Given the description of an element on the screen output the (x, y) to click on. 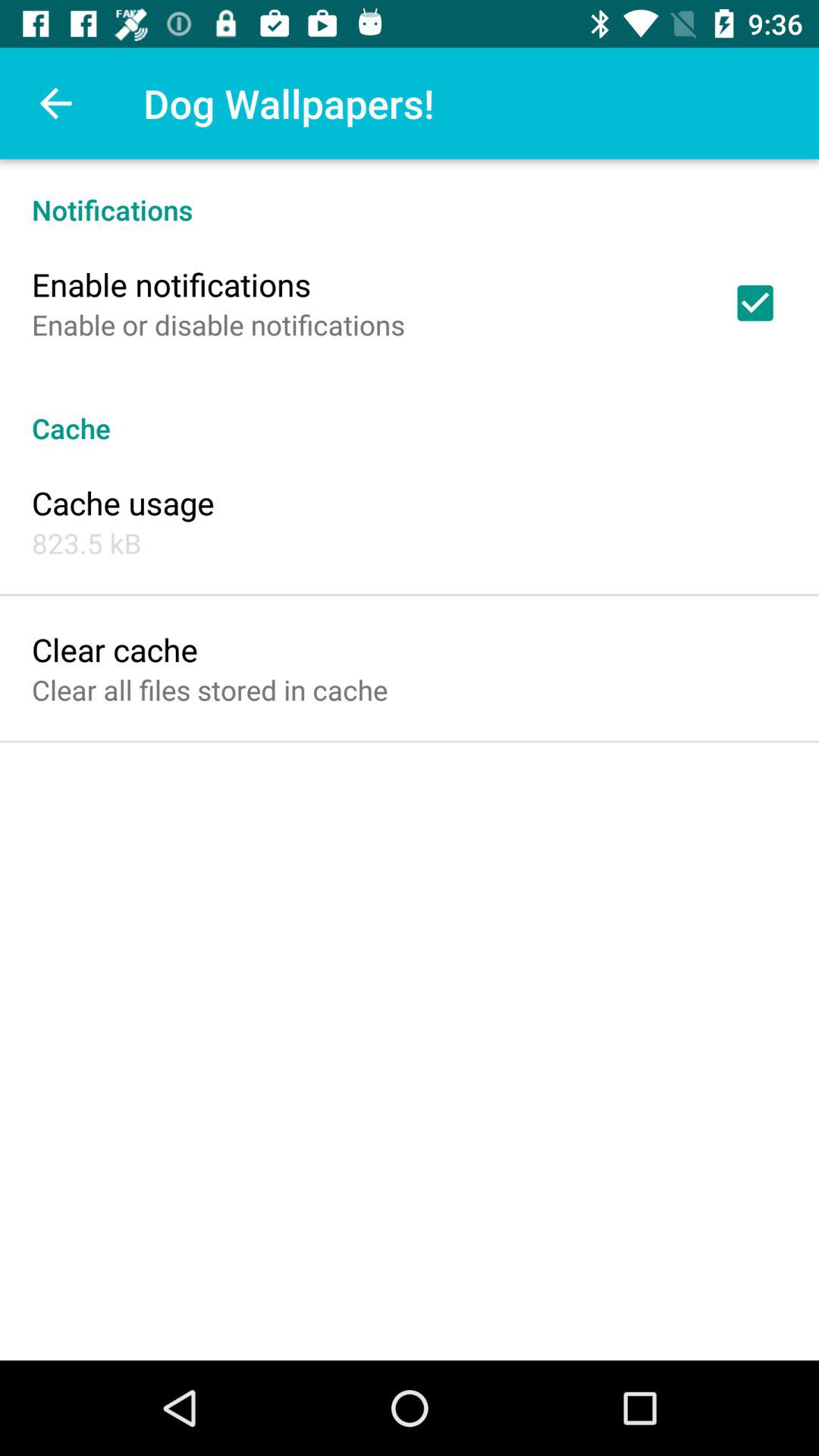
jump until the cache usage icon (122, 502)
